Given the description of an element on the screen output the (x, y) to click on. 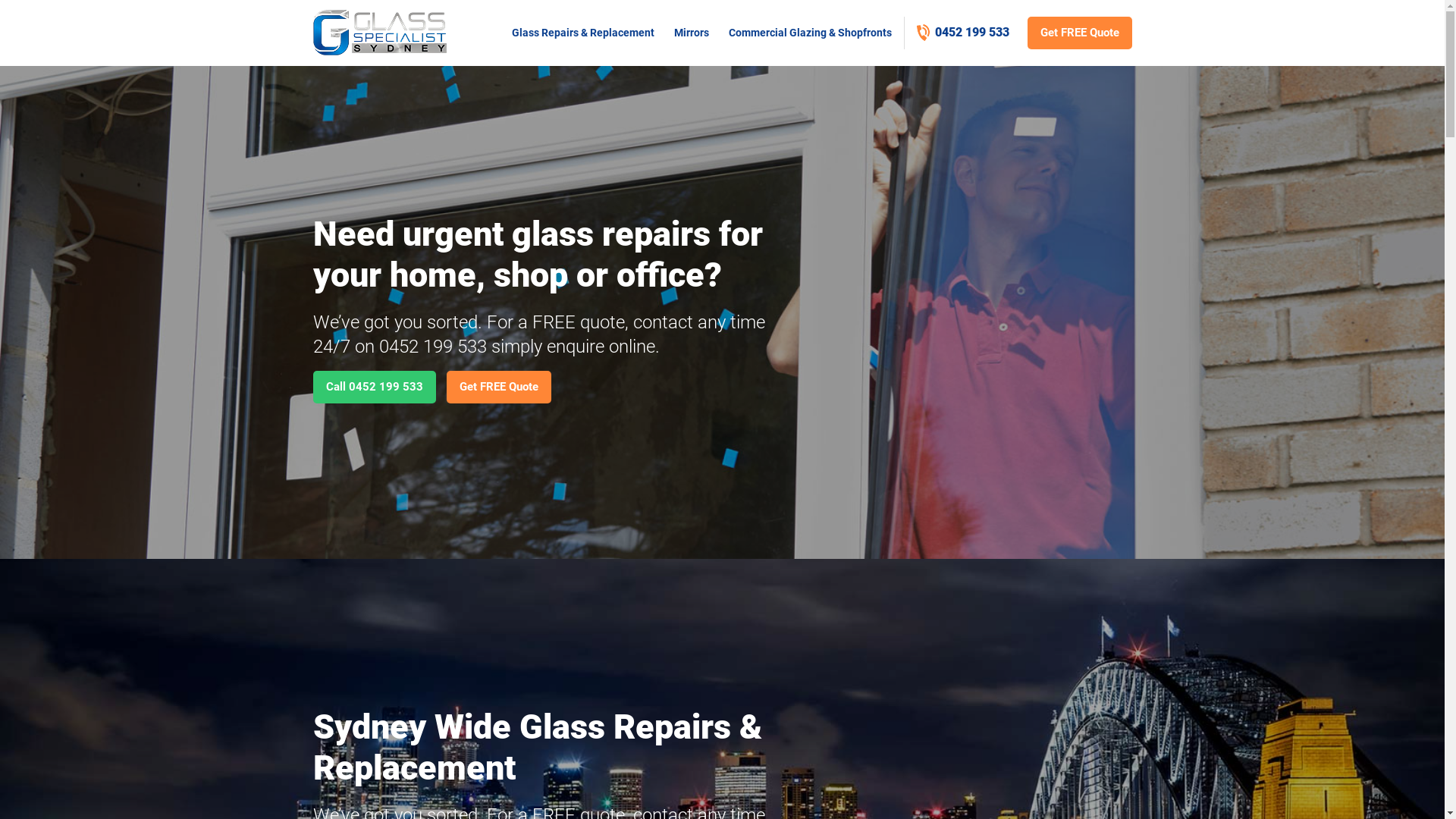
0452 199 533 Element type: text (962, 31)
Sydney Glass Specialist Element type: hover (378, 32)
Get FREE Quote Element type: text (1078, 32)
Get FREE Quote Element type: text (497, 386)
Glass Repairs & Replacement Element type: text (582, 32)
Call 0452 199 533 Element type: text (373, 386)
Mirrors Element type: text (691, 32)
Commercial Glazing & Shopfronts Element type: text (810, 32)
